Given the description of an element on the screen output the (x, y) to click on. 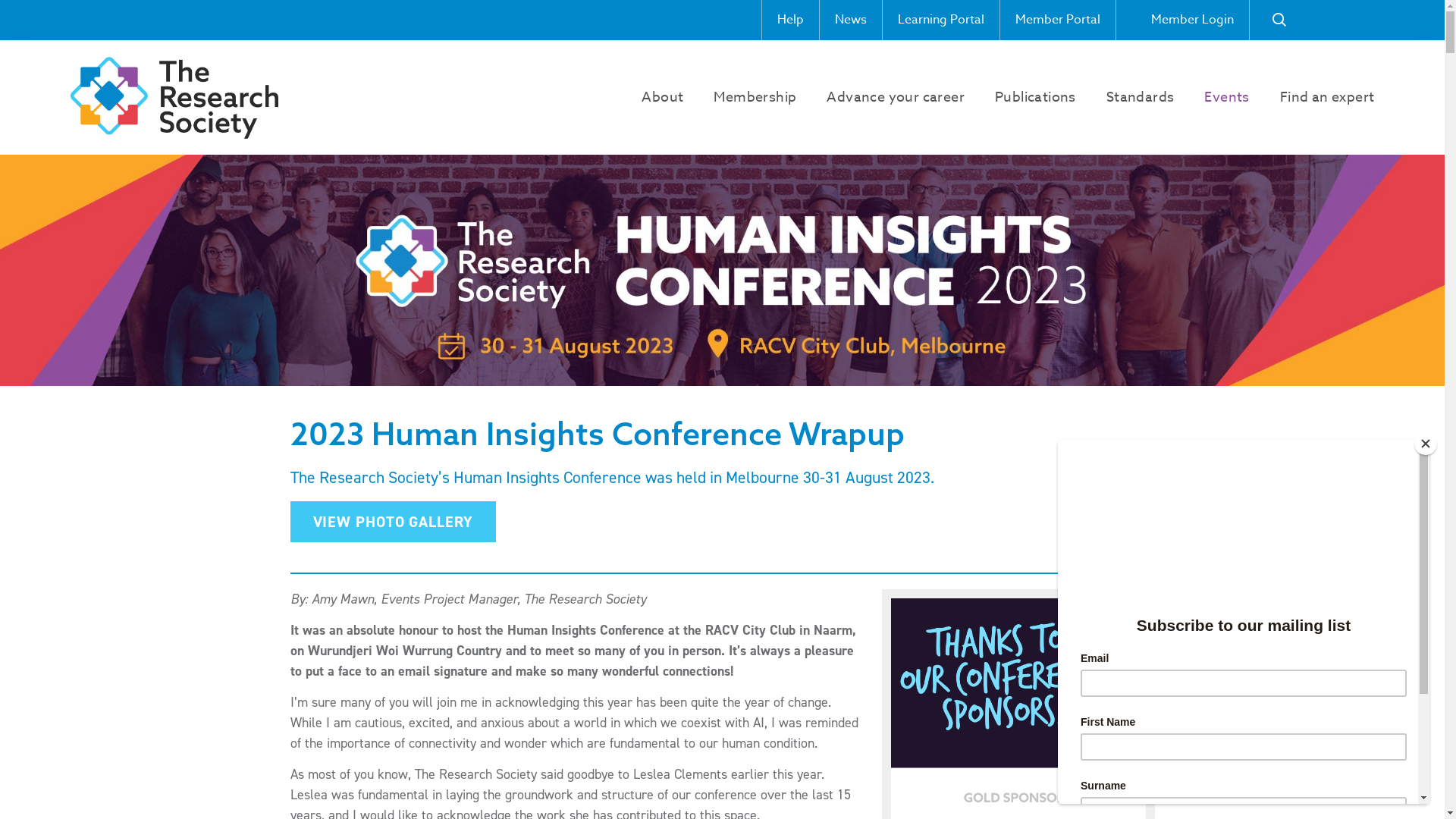
Membership Element type: text (754, 97)
Member Portal Element type: text (1057, 20)
About Element type: text (662, 97)
News Element type: text (850, 20)
Learning Portal Element type: text (939, 20)
Advance your career Element type: text (895, 97)
Standards Element type: text (1140, 97)
Help Element type: text (790, 20)
Member Login Element type: text (1181, 20)
Publications Element type: text (1035, 97)
VIEW PHOTO GALLERY Element type: text (392, 521)
Events Element type: text (1226, 97)
Find an expert Element type: text (1327, 97)
